Given the description of an element on the screen output the (x, y) to click on. 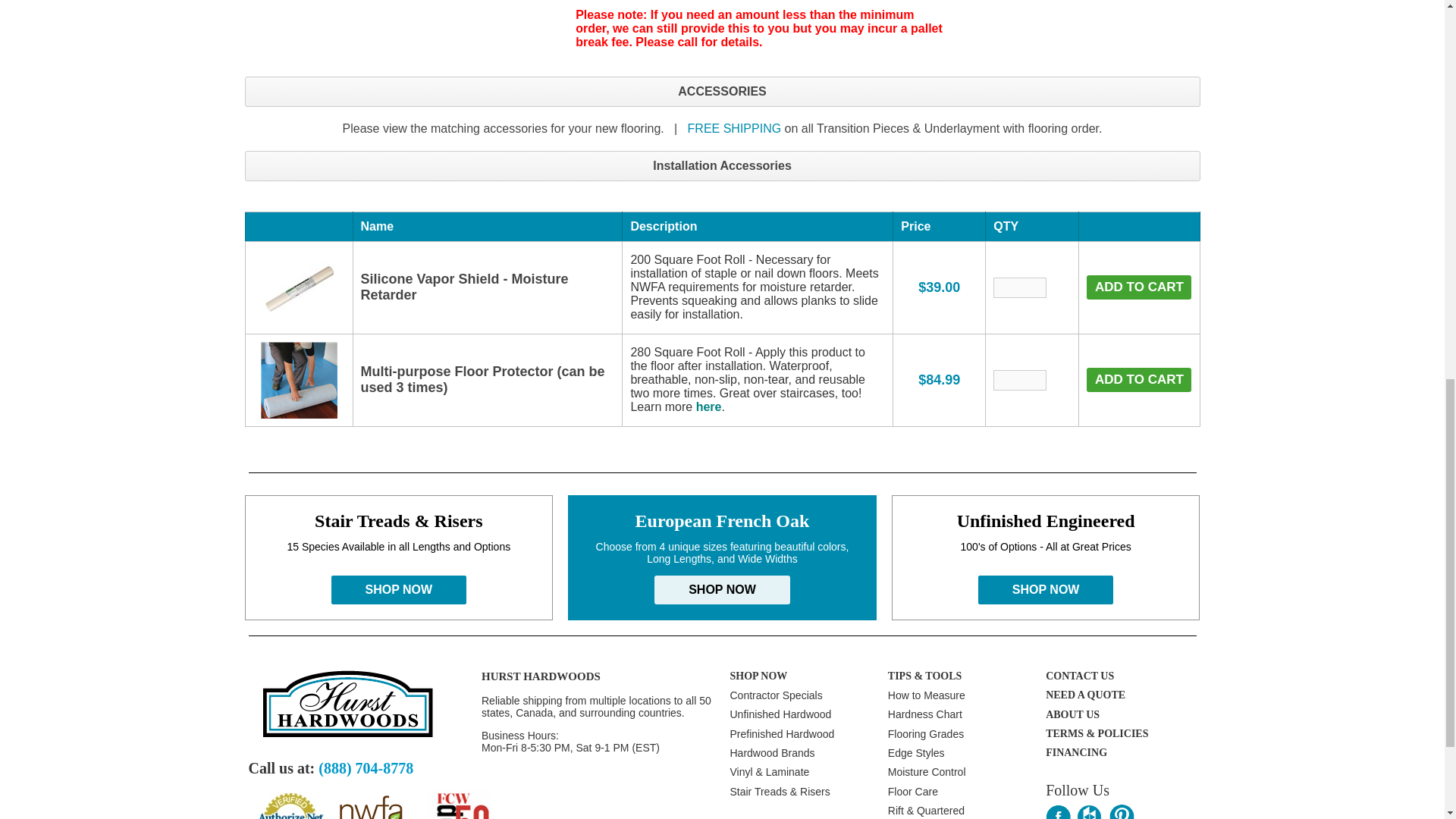
ADD TO CART (1138, 287)
ADD TO CART (1138, 379)
